Given the description of an element on the screen output the (x, y) to click on. 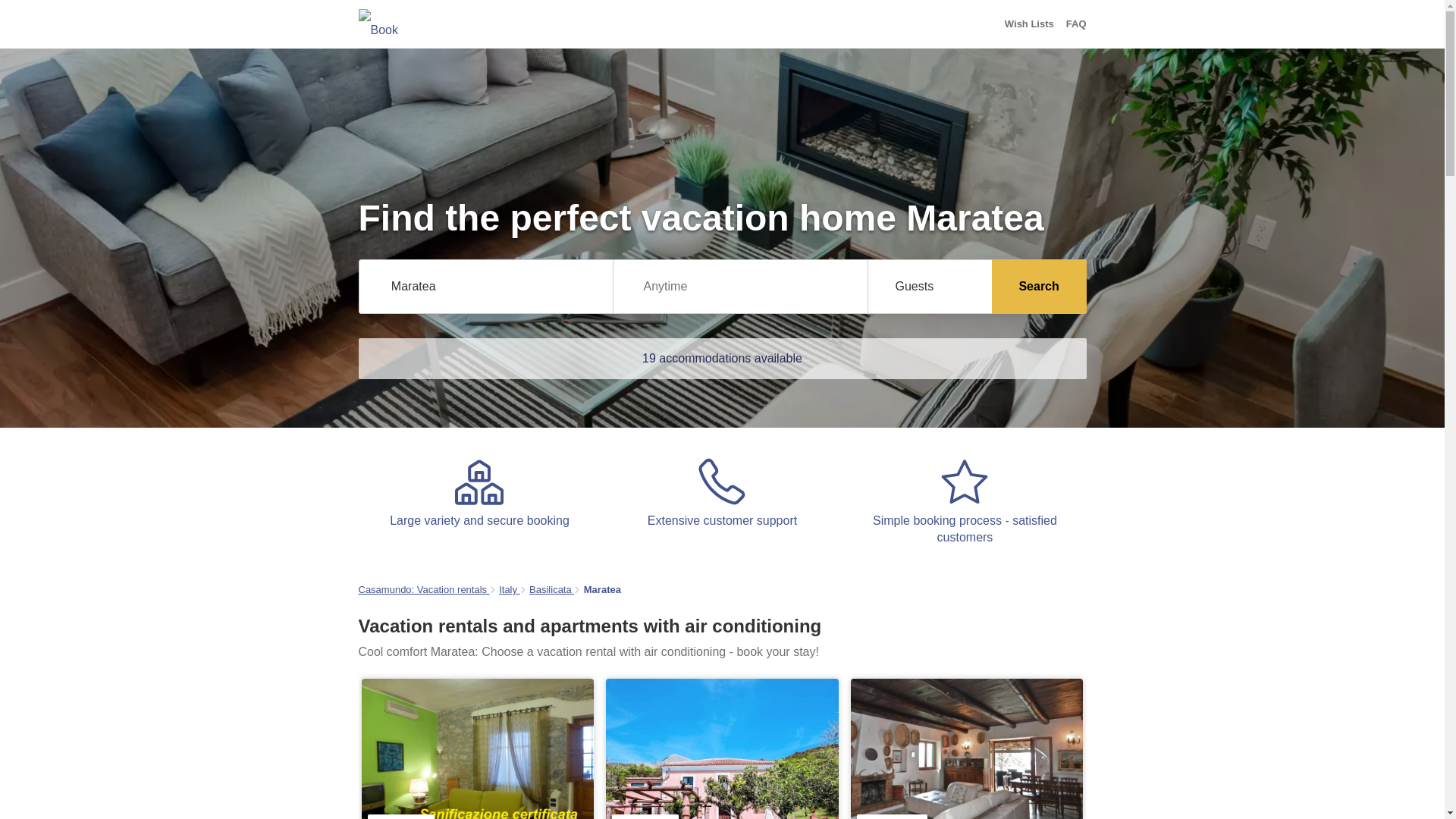
Basilicata (551, 589)
Basilicata (551, 589)
Casamundo: Vacation rentals (423, 589)
Casamundo: Vacation rentals (423, 589)
Italy (509, 589)
Search (1038, 286)
Italy (509, 589)
Wish Lists (1029, 24)
